Given the description of an element on the screen output the (x, y) to click on. 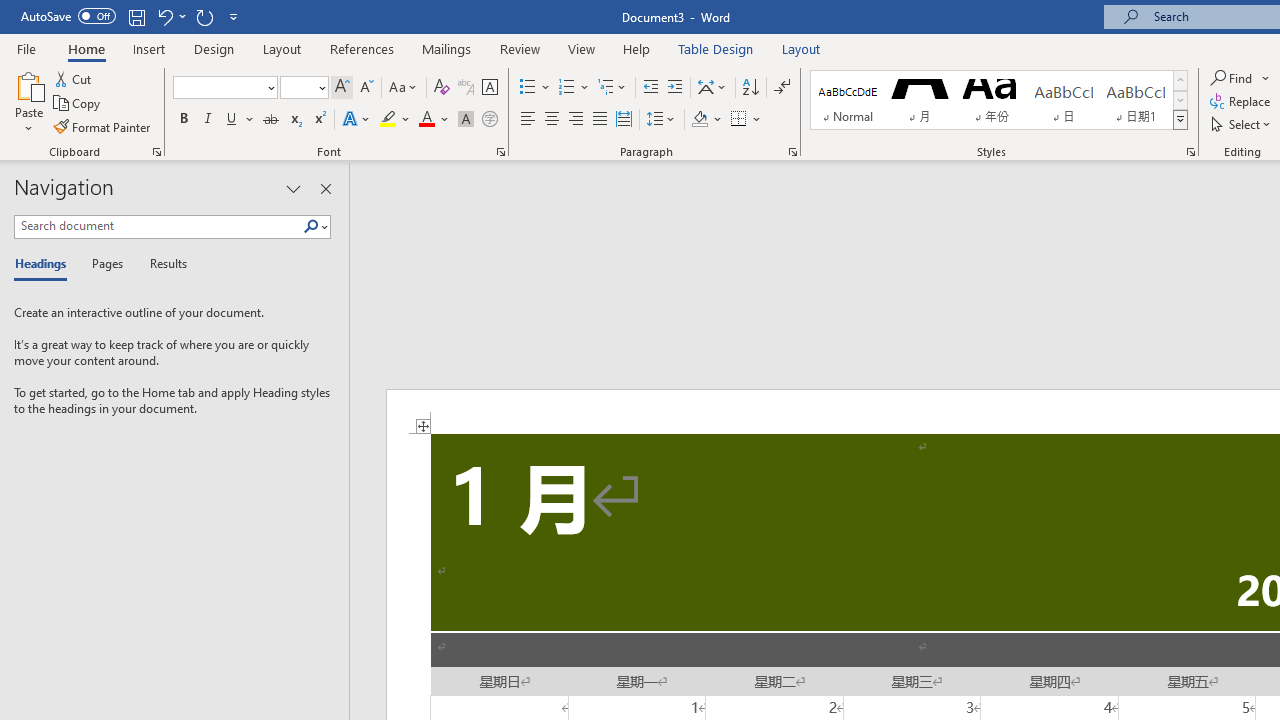
Repeat Grow Font (204, 15)
Font Color RGB(255, 0, 0) (426, 119)
